Given the description of an element on the screen output the (x, y) to click on. 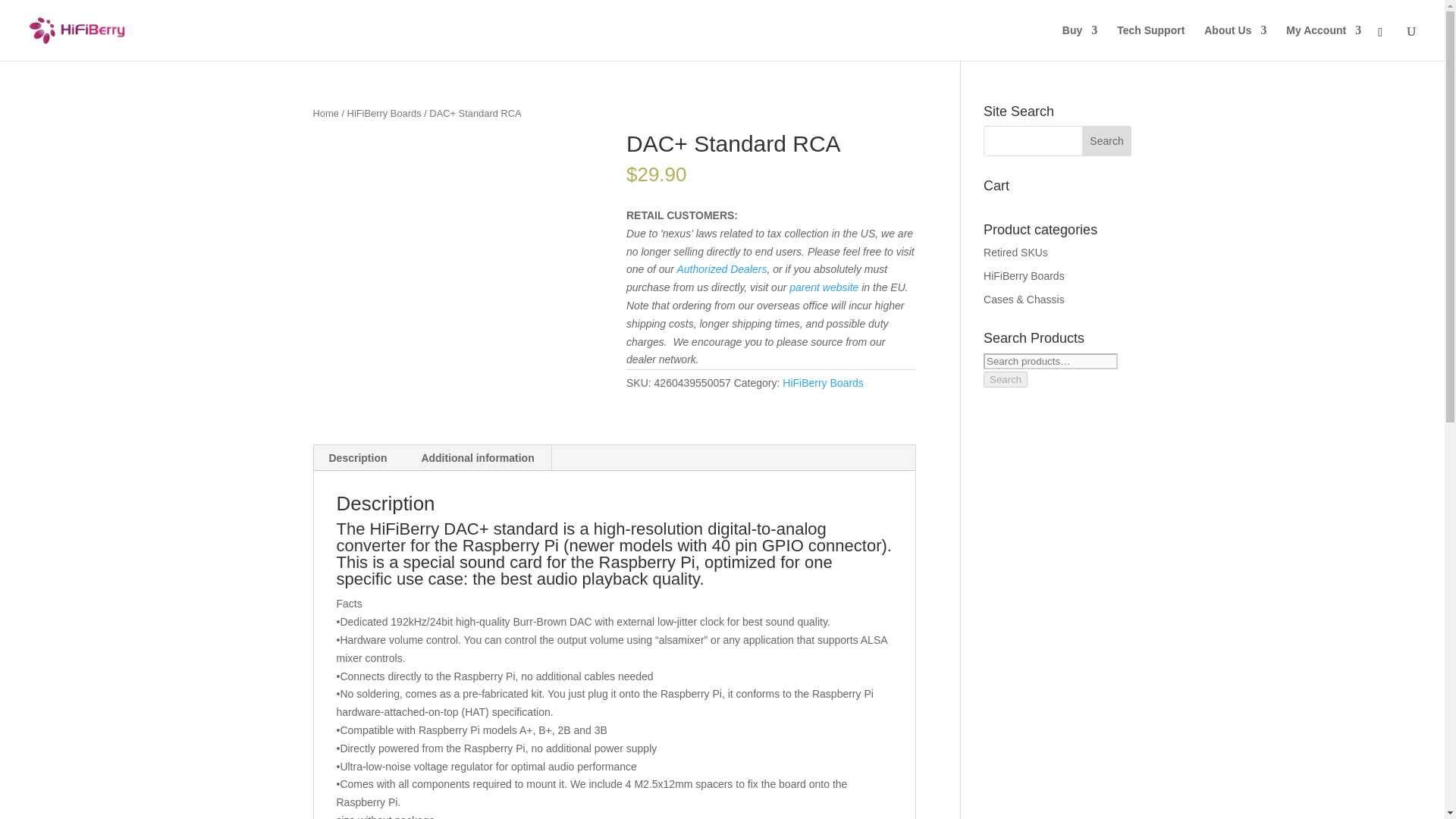
Retired SKUs (1016, 252)
Home (325, 112)
About Us (1235, 42)
Description (358, 457)
Buy (1079, 42)
HiFiBerry Boards (384, 112)
Authorized Dealers (722, 268)
My Account (1323, 42)
HiFiBerry Boards (823, 382)
Additional information (477, 457)
